Given the description of an element on the screen output the (x, y) to click on. 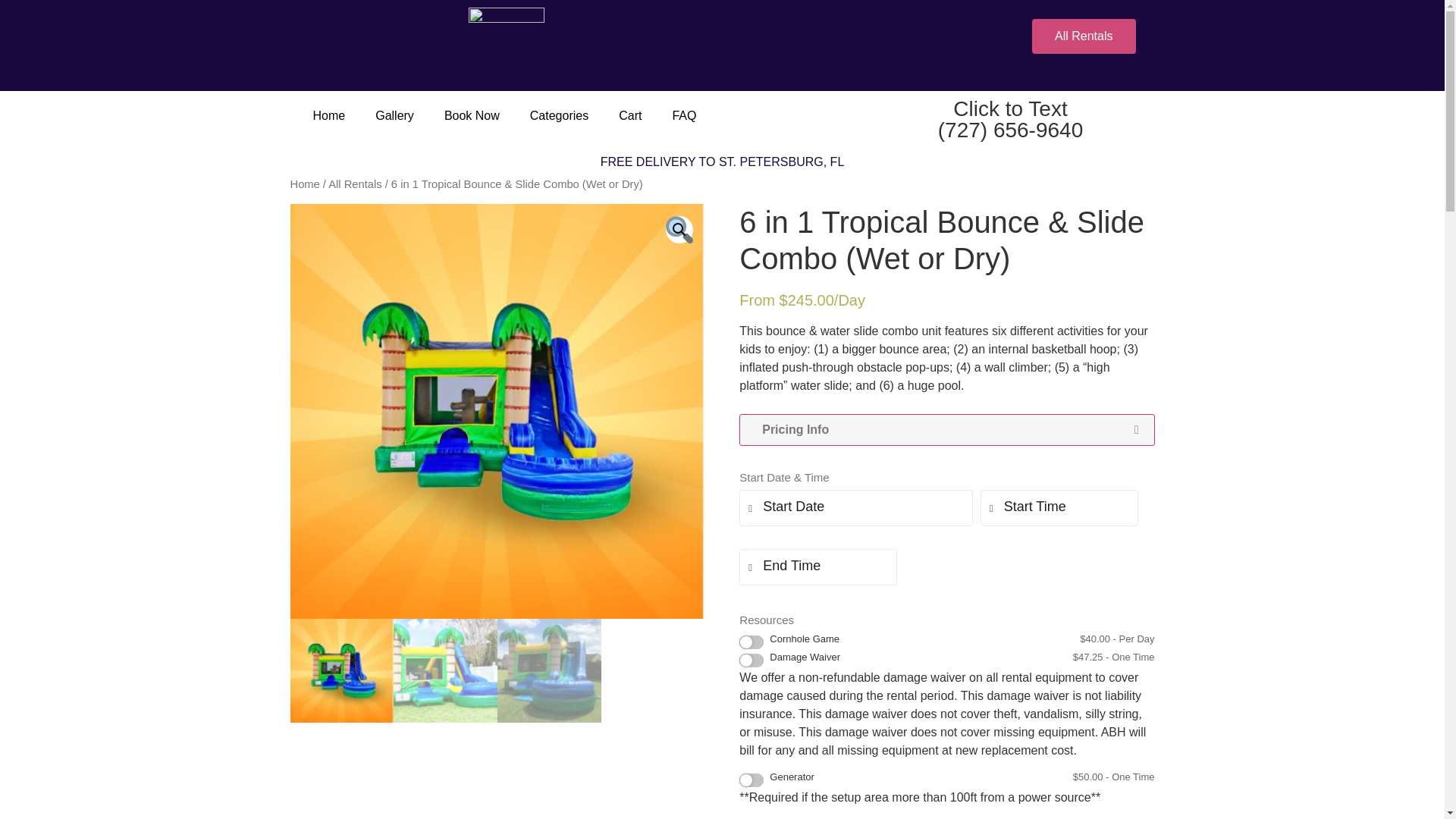
All Rentals (355, 184)
All Rentals (1083, 36)
FAQ (683, 115)
  Pricing Info (946, 429)
Categories (559, 115)
Book Now (472, 115)
Cart (630, 115)
Home (303, 184)
Home (328, 115)
